Given the description of an element on the screen output the (x, y) to click on. 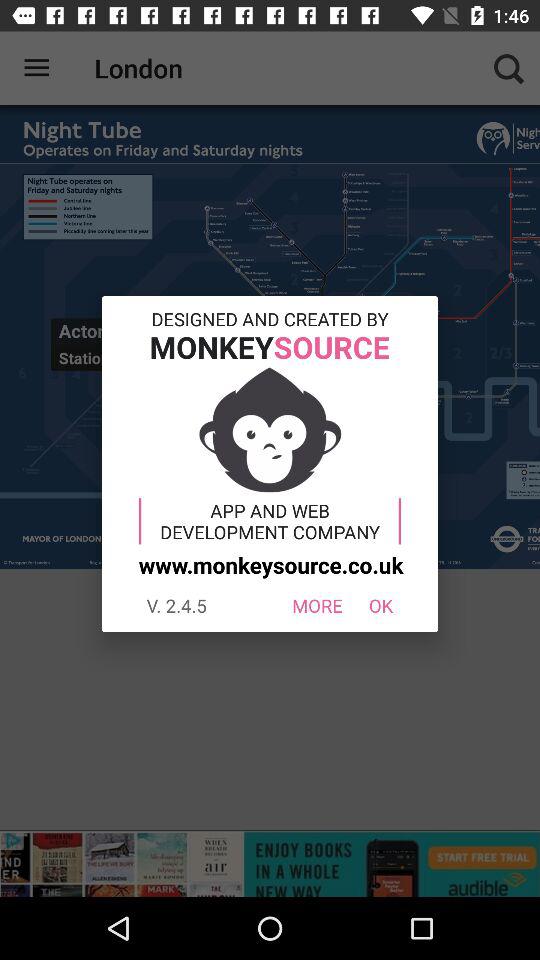
jump to more item (316, 605)
